Given the description of an element on the screen output the (x, y) to click on. 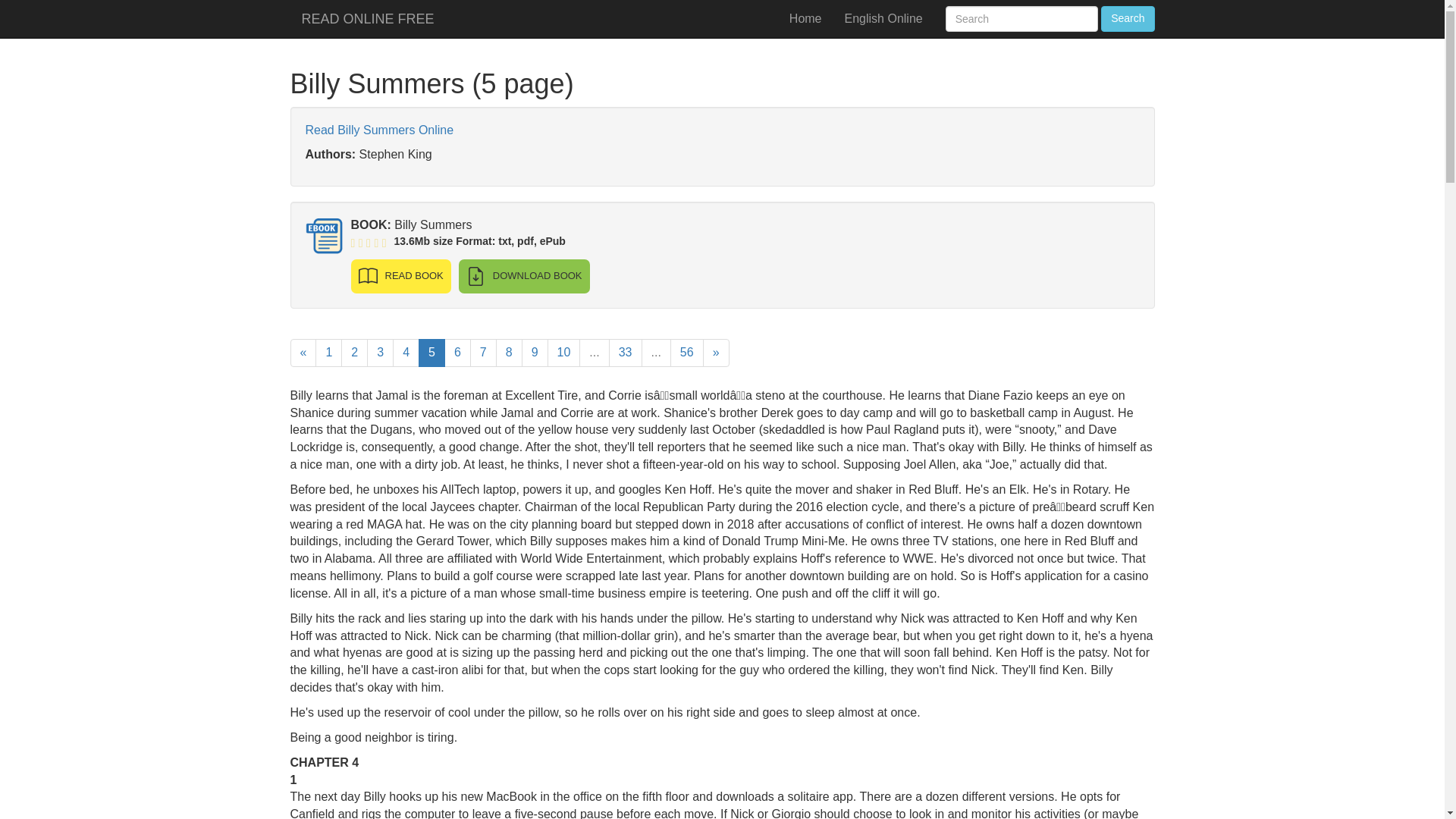
4 (406, 352)
3 (379, 352)
Read Billy Summers Online (378, 129)
8 (509, 352)
Home (804, 18)
9 (534, 352)
7 (483, 352)
5 (432, 352)
33 (625, 352)
2 (354, 352)
English Online (883, 18)
READ ONLINE FREE (367, 18)
56 (686, 352)
Search (1127, 18)
READ BOOK (399, 276)
